Given the description of an element on the screen output the (x, y) to click on. 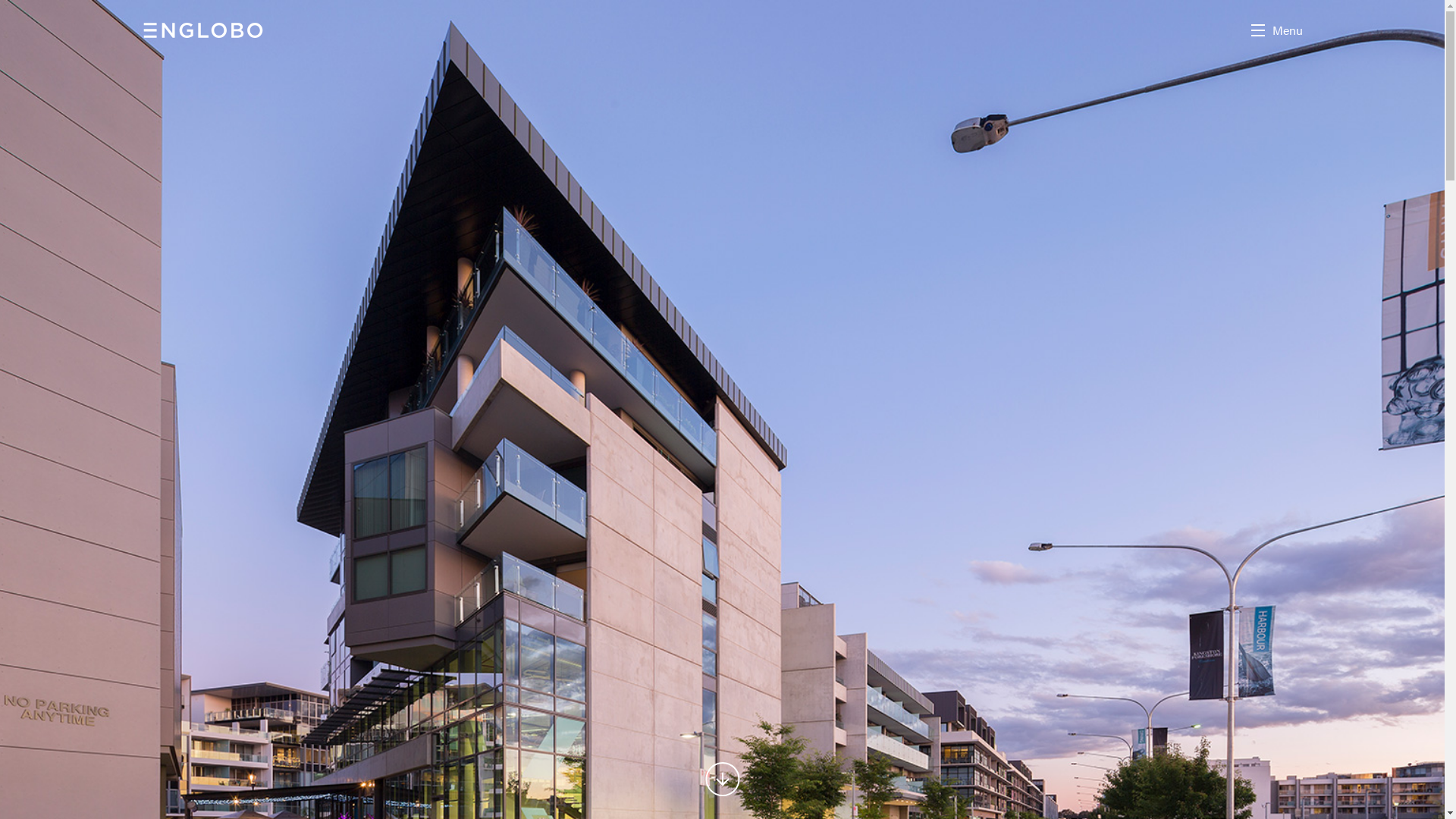
Englobo Group Element type: hover (202, 29)
